Given the description of an element on the screen output the (x, y) to click on. 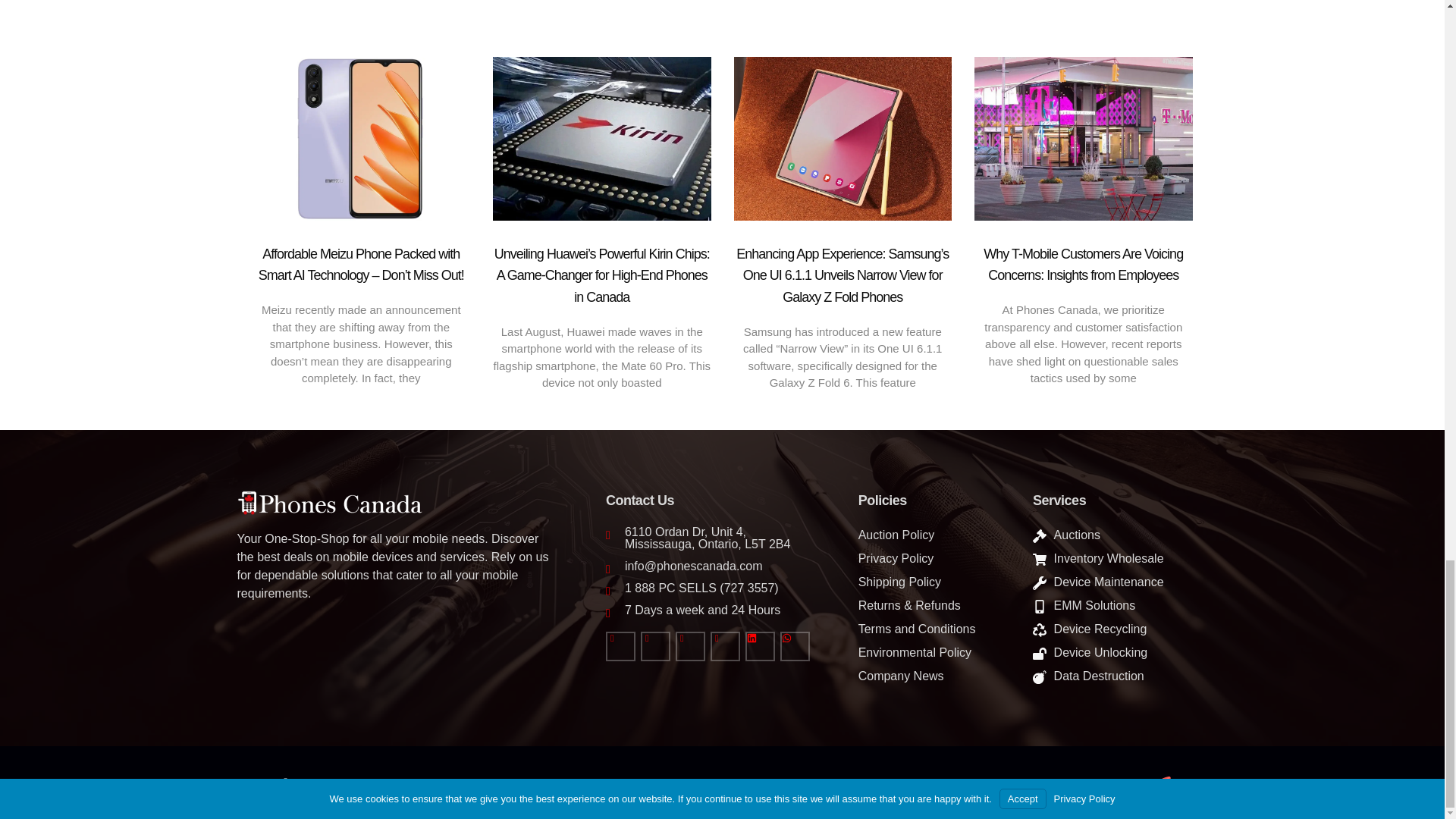
UpshotFirm.com (1166, 786)
